Given the description of an element on the screen output the (x, y) to click on. 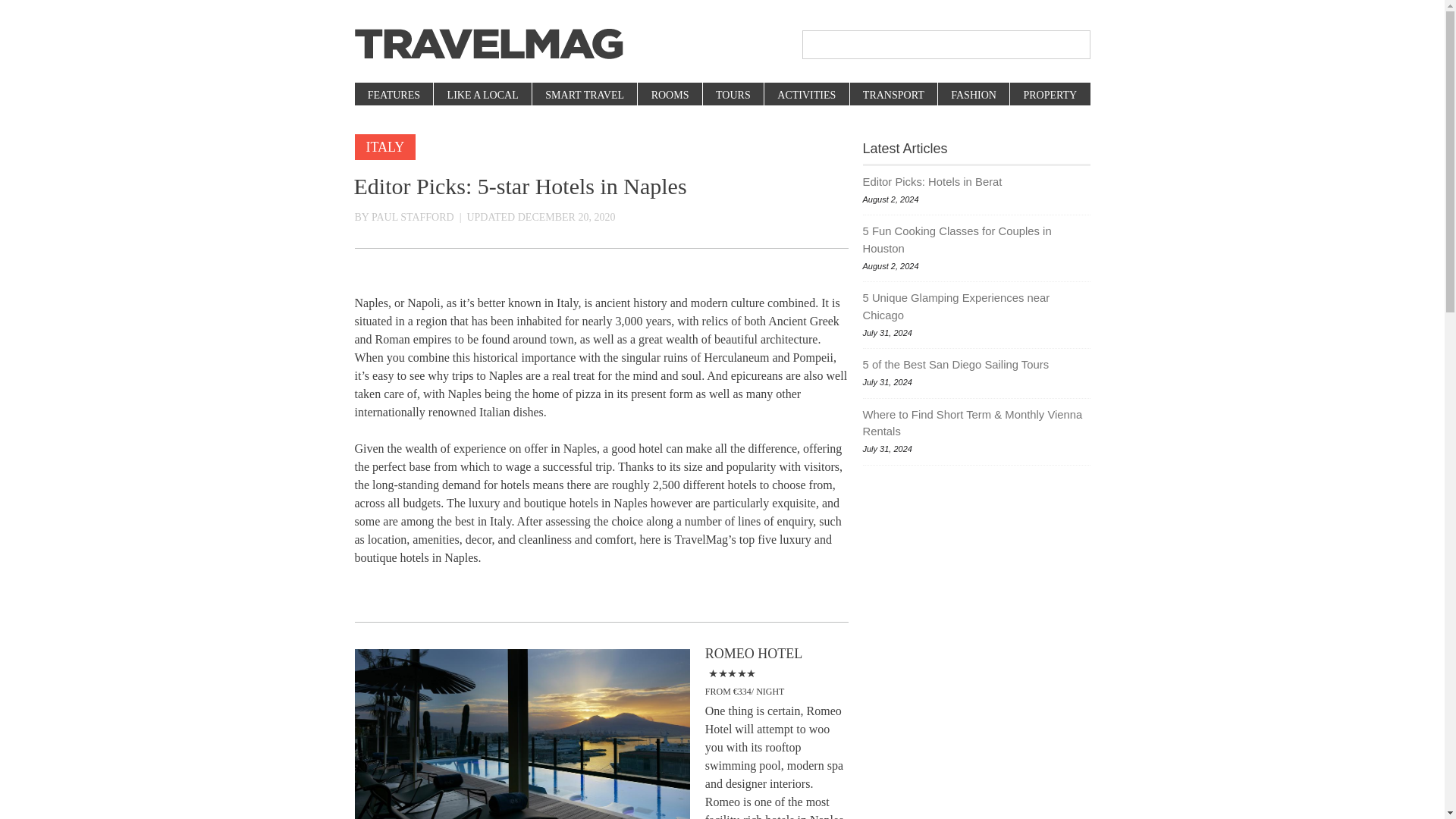
TRANSPORT (892, 95)
ACTIVITIES (805, 95)
SMART TRAVEL (584, 95)
TravelMag (489, 43)
5 of the Best San Diego Sailing Tours (976, 364)
LIKE A LOCAL (481, 95)
Editor Picks: Hotels in Berat (976, 181)
TOURS (731, 95)
5 Fun Cooking Classes for Couples in Houston (976, 239)
FASHION (973, 95)
